Given the description of an element on the screen output the (x, y) to click on. 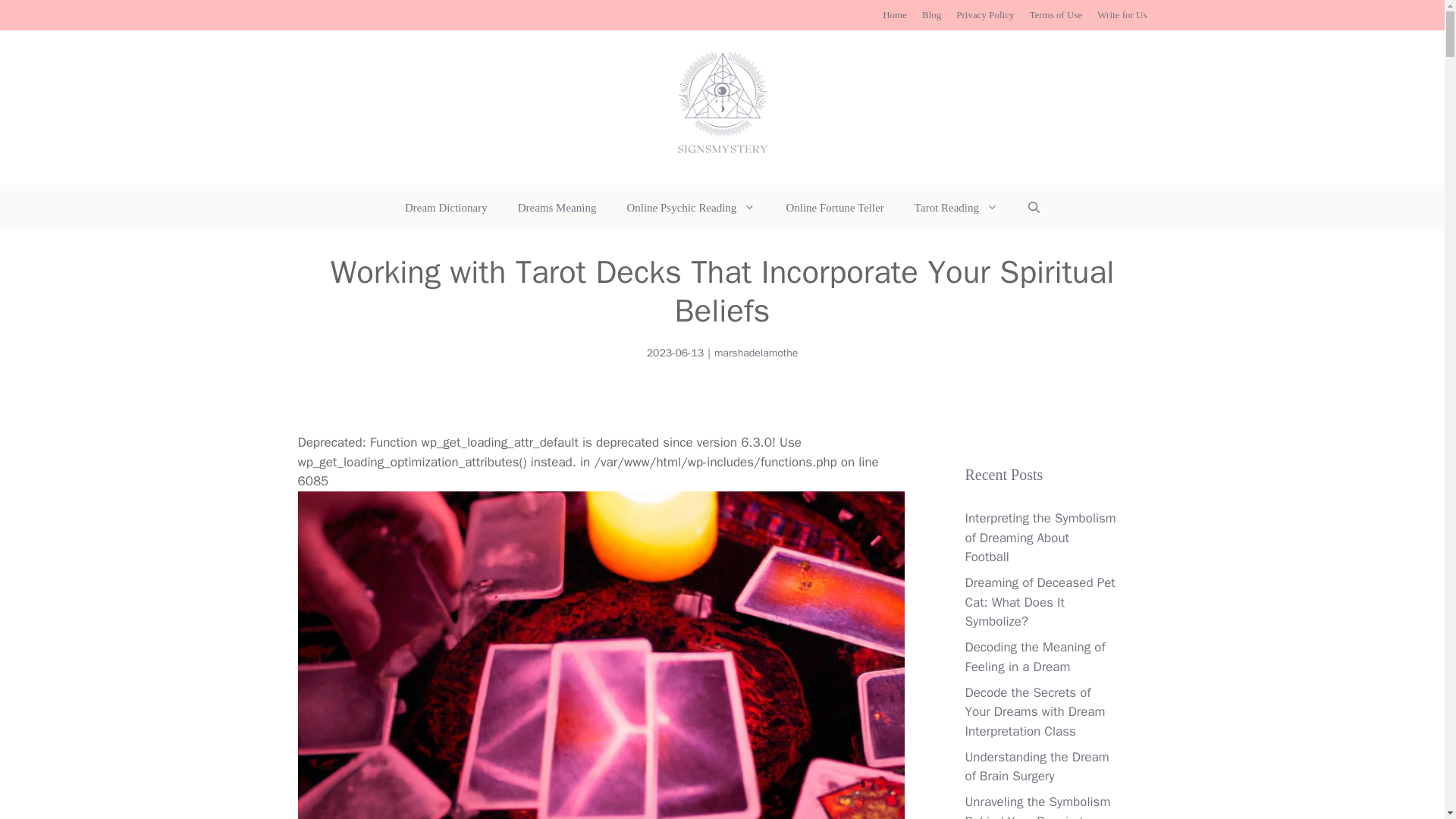
Dreams Meaning (556, 207)
Privacy Policy (984, 14)
Online Psychic Reading (690, 207)
Dream Dictionary (446, 207)
Terms of Use (1055, 14)
Home (894, 14)
Blog (930, 14)
Write for Us (1122, 14)
